Given the description of an element on the screen output the (x, y) to click on. 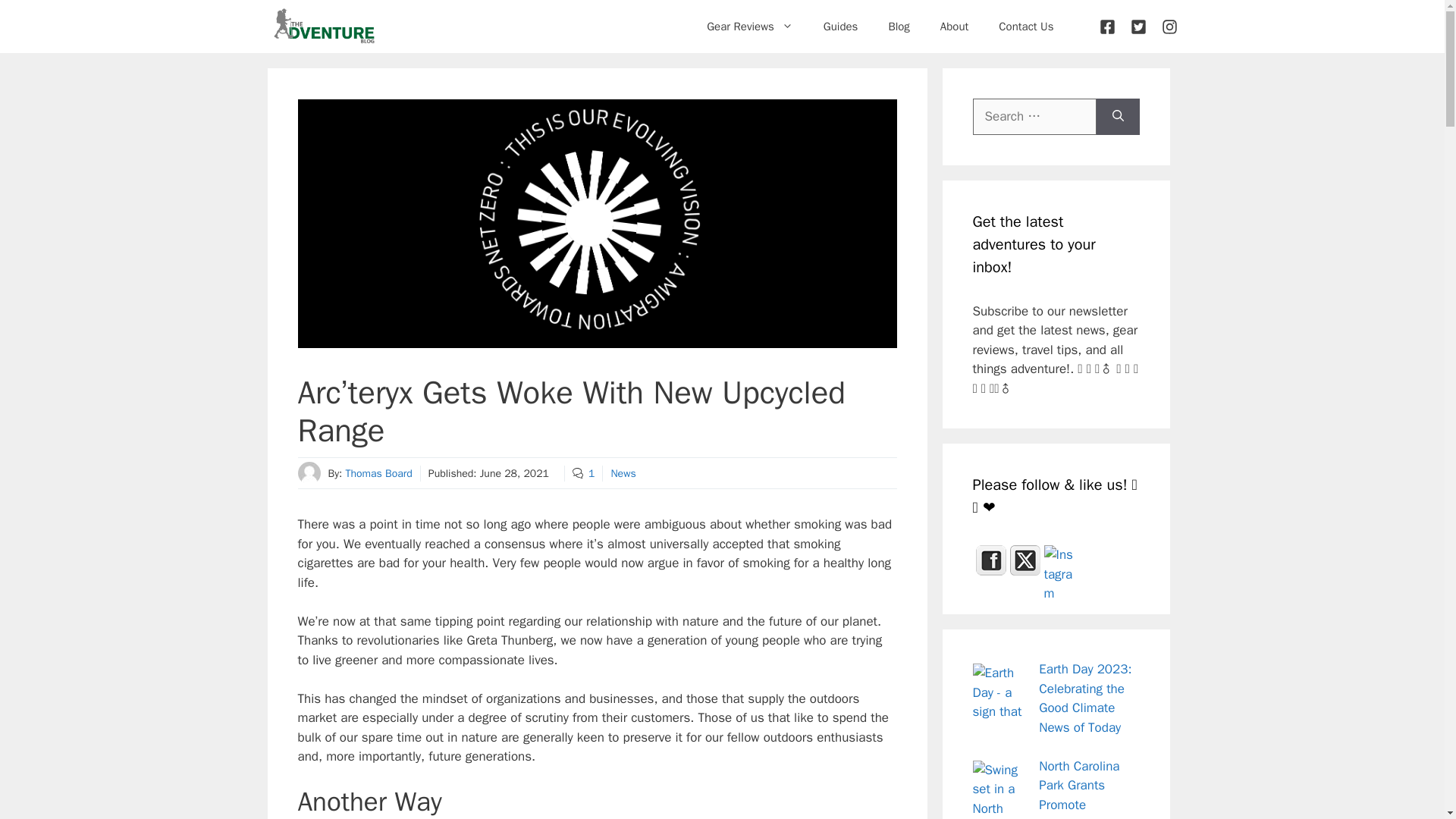
Gear Reviews (749, 26)
Twitter (1025, 560)
Blog (898, 26)
Contact Us (1026, 26)
Facebook (990, 560)
Search for: (1034, 116)
About (954, 26)
Thomas Board (378, 472)
News (622, 472)
The Adventure Blog (323, 26)
